Given the description of an element on the screen output the (x, y) to click on. 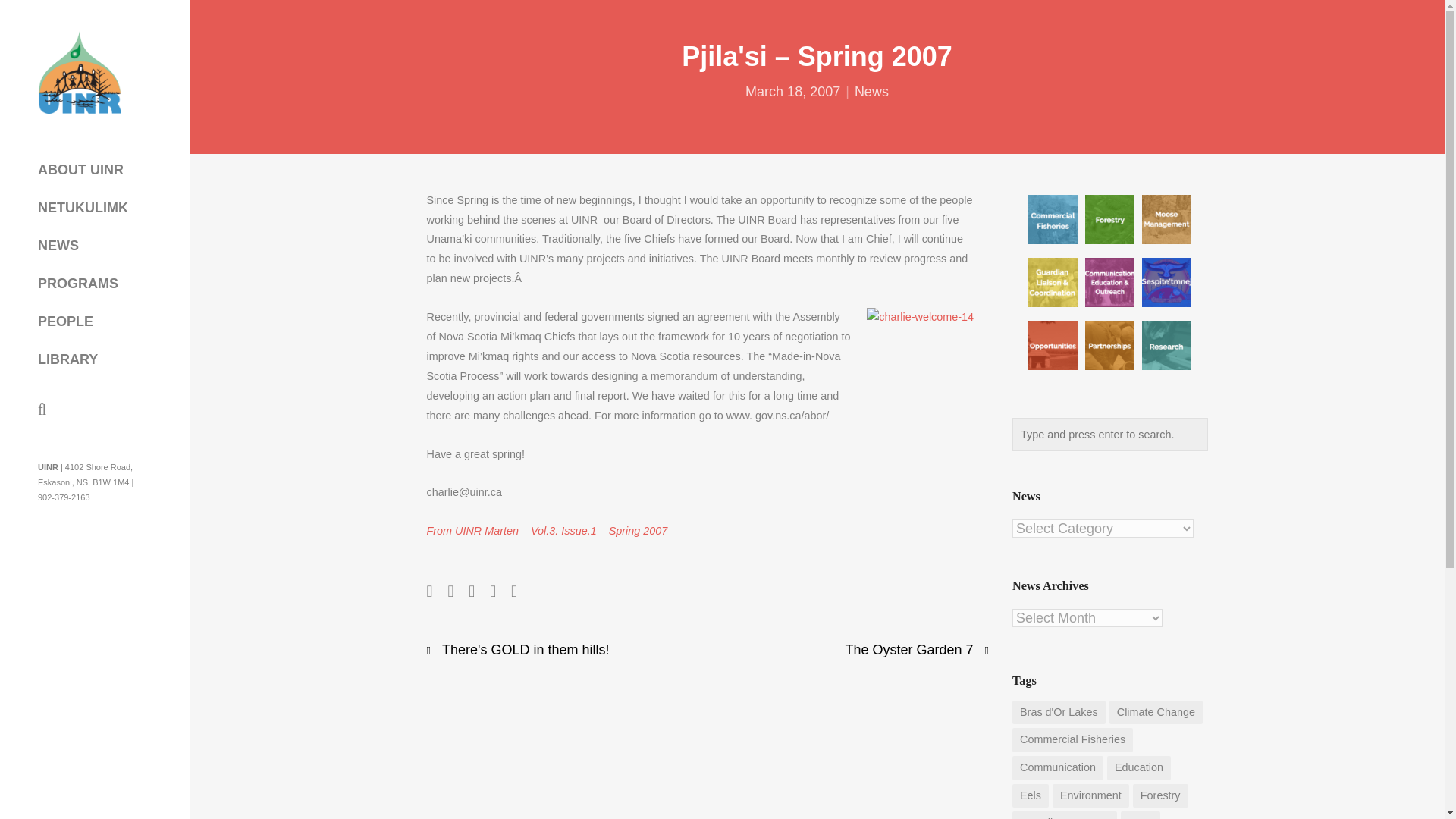
News (871, 91)
Netukulimk (1166, 282)
Moose Management (1166, 219)
Partnerships (1109, 345)
Forestry (1109, 219)
Share on Facebook (429, 590)
The Oyster Garden 7 (909, 649)
NETUKULIMK (82, 207)
ABOUT UINR (80, 169)
Bras d'Or Lakes (1058, 712)
NEWS (58, 245)
charlie-welcome-14 (920, 360)
Commercial Fisheries (1052, 219)
LIBRARY (67, 358)
View all posts in News (871, 91)
